Given the description of an element on the screen output the (x, y) to click on. 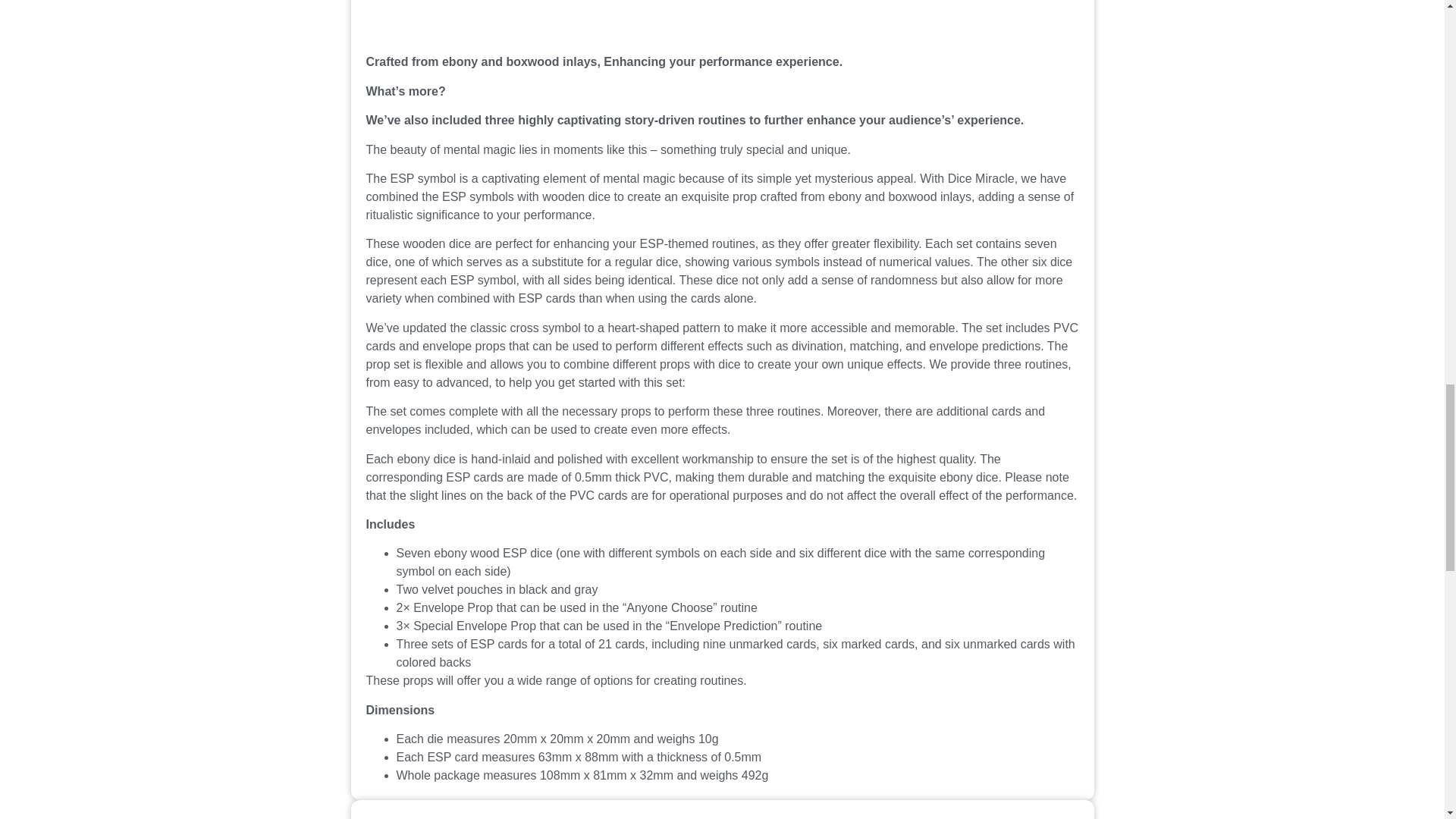
Dice miracle par TCC (721, 18)
